Given the description of an element on the screen output the (x, y) to click on. 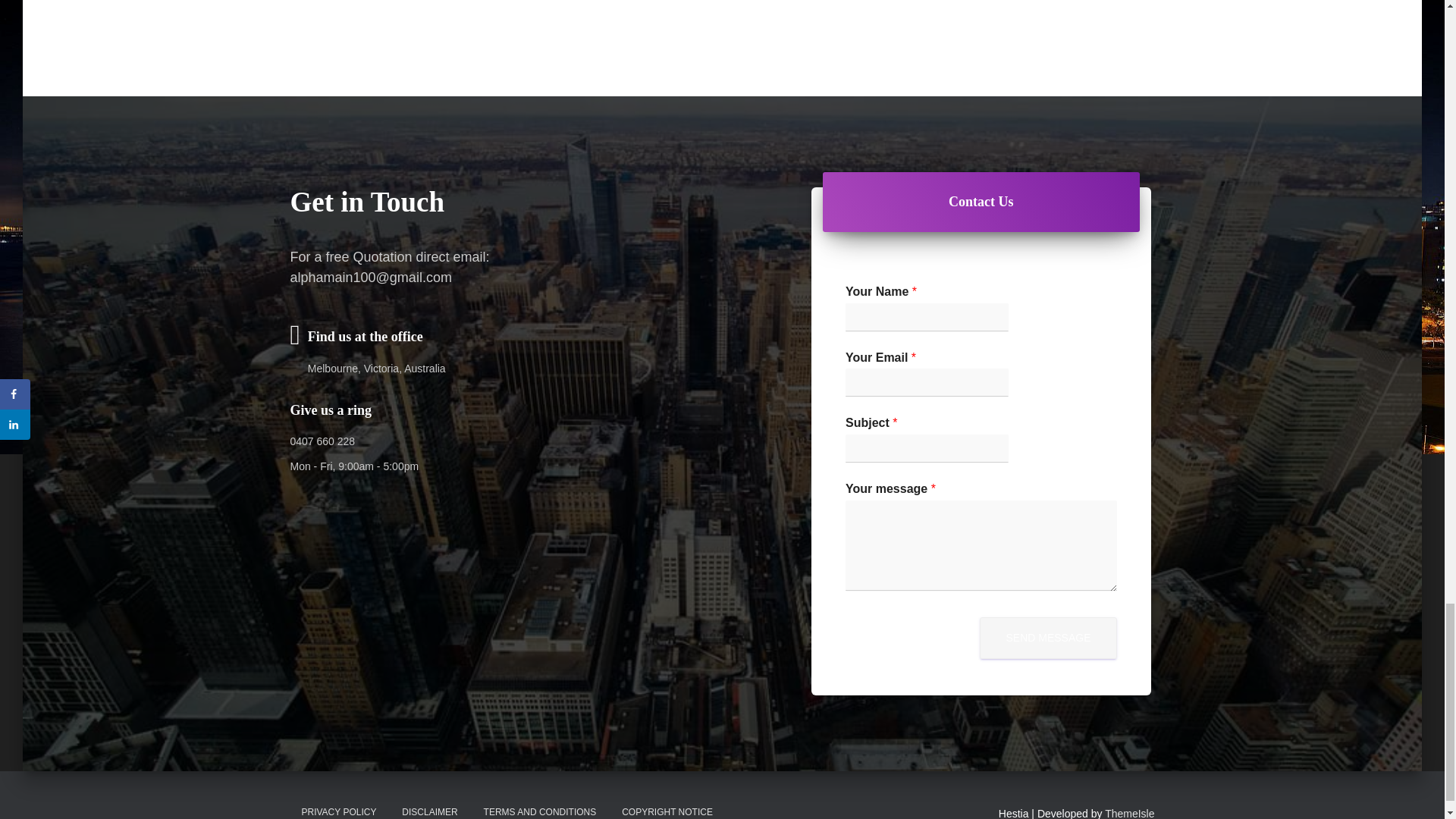
DISCLAIMER (429, 806)
ThemeIsle (1129, 813)
COPYRIGHT NOTICE (666, 806)
PRIVACY POLICY (338, 806)
SEND MESSAGE (1047, 638)
TERMS AND CONDITIONS (539, 806)
